Given the description of an element on the screen output the (x, y) to click on. 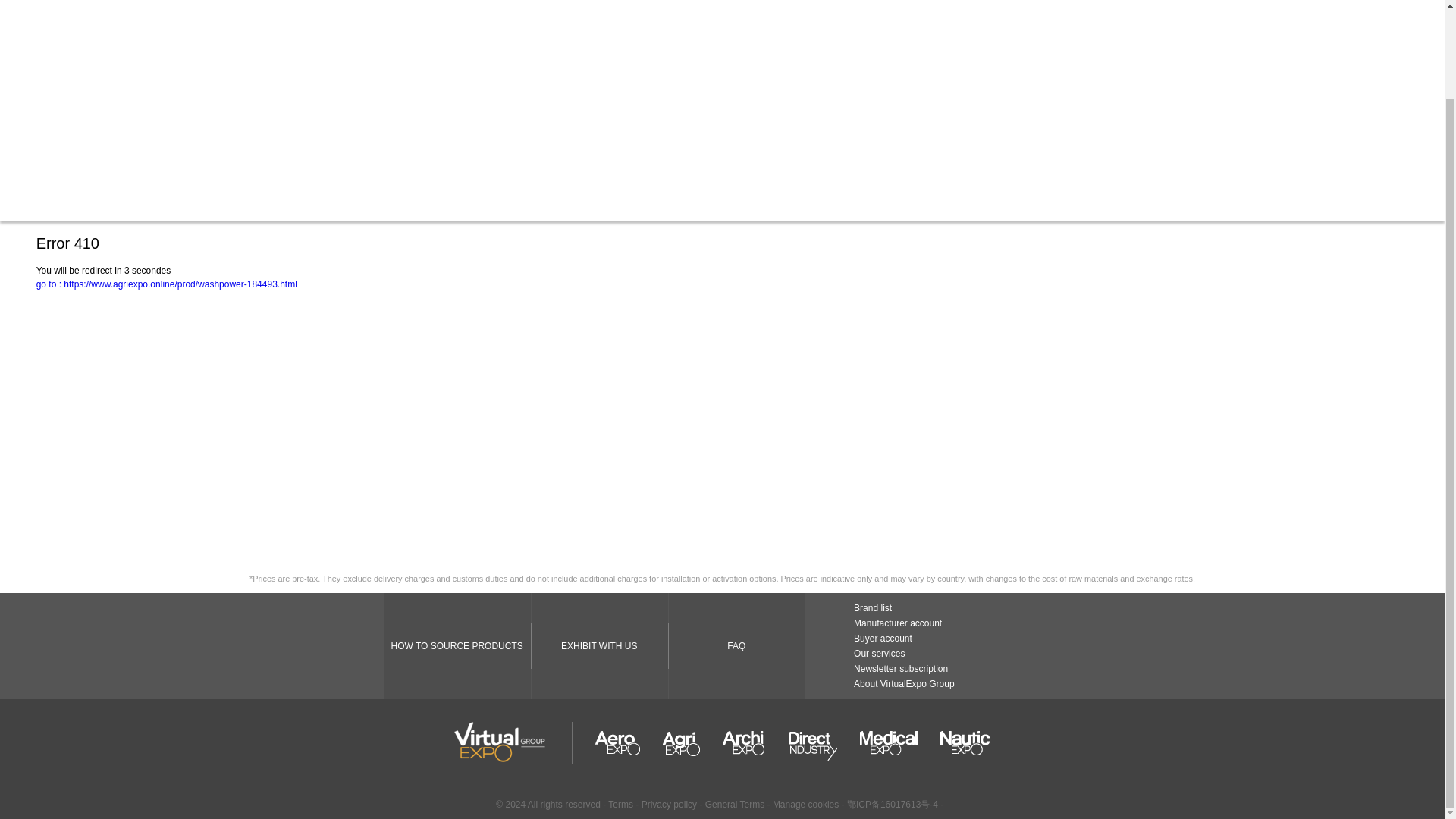
About VirtualExpo Group (904, 683)
Buyer account (882, 638)
FAQ (736, 646)
Brand list (872, 607)
HOW TO SOURCE PRODUCTS (456, 645)
Terms (620, 804)
Manufacturer account (897, 623)
General Terms (735, 804)
Our services (878, 653)
Manage cookies (805, 804)
